Given the description of an element on the screen output the (x, y) to click on. 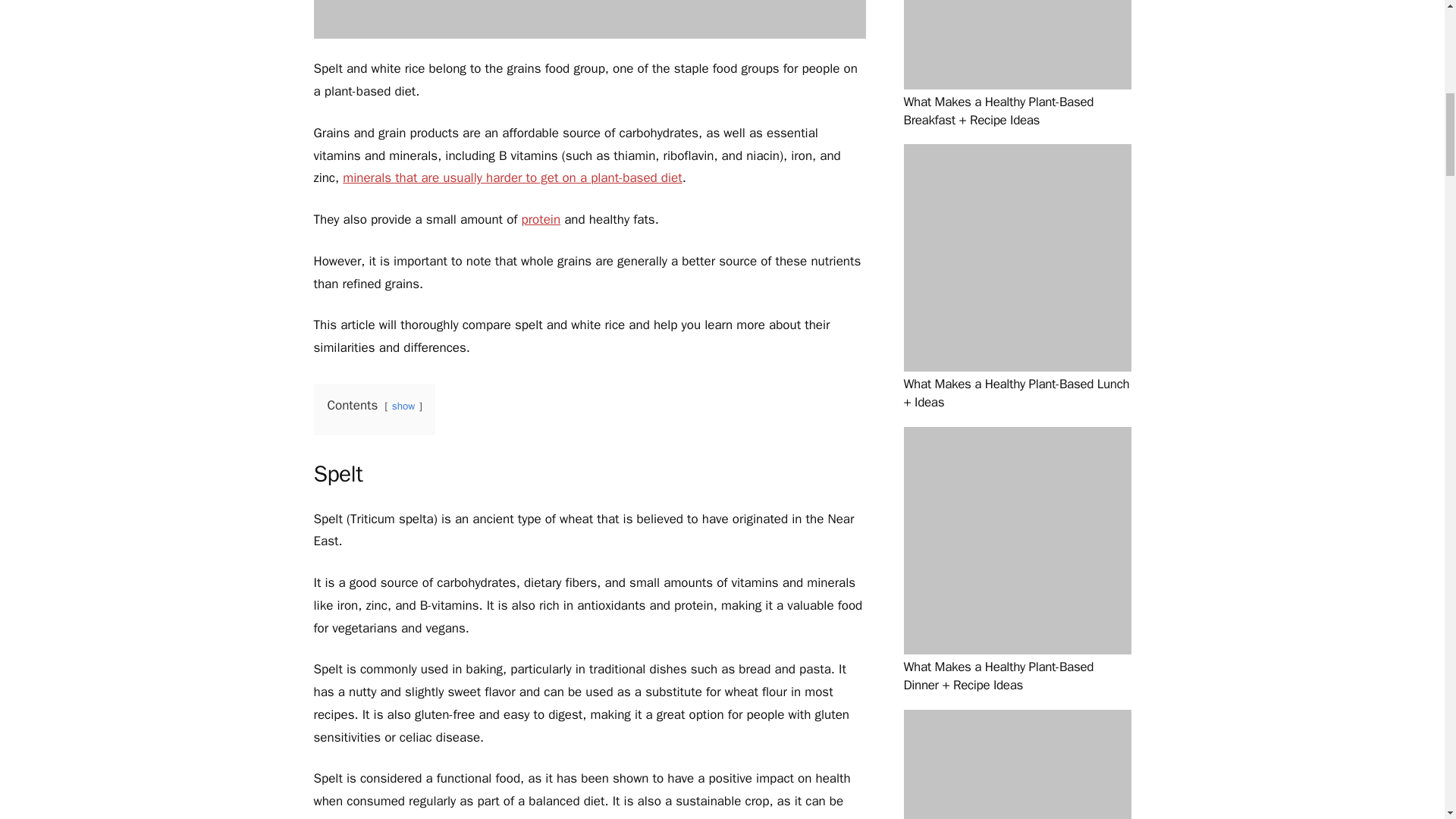
show (402, 405)
protein (540, 219)
